Given the description of an element on the screen output the (x, y) to click on. 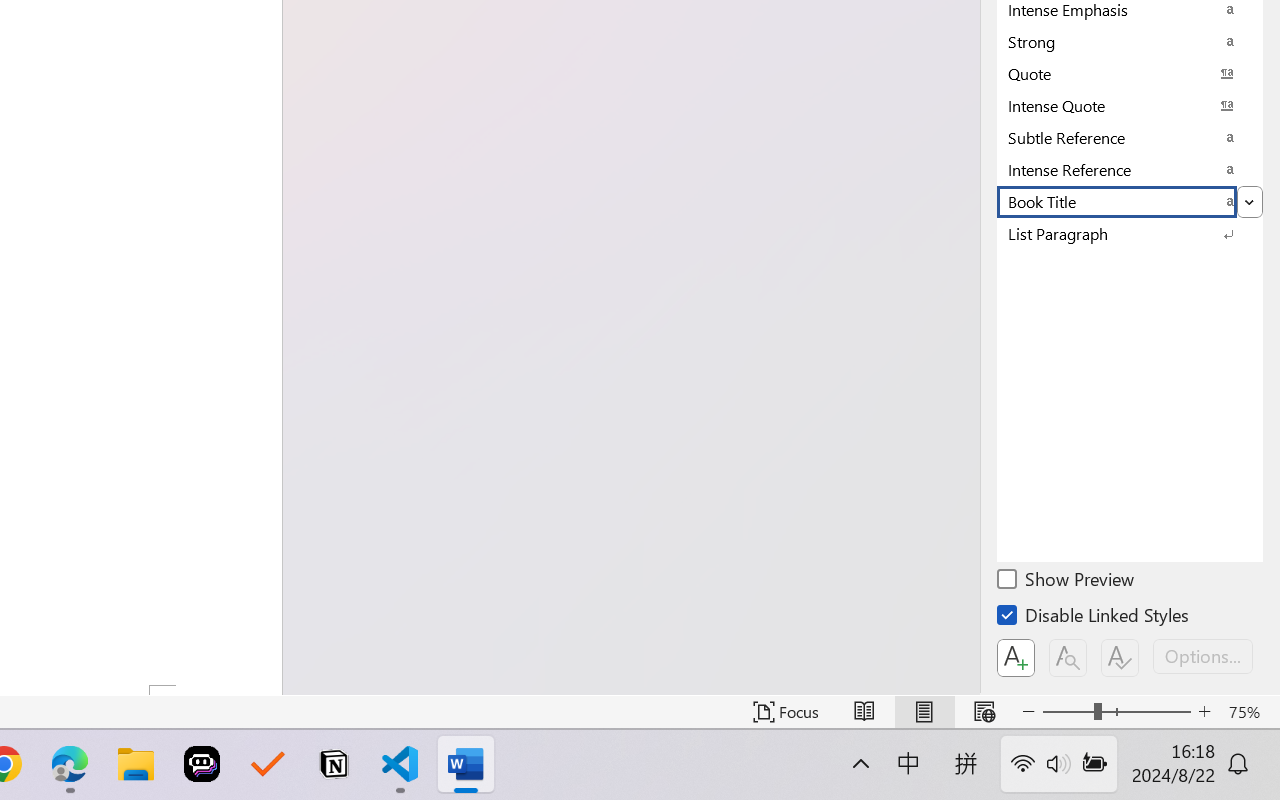
Intense Reference (1130, 169)
Strong (1130, 41)
Zoom 75% (1249, 712)
Disable Linked Styles (1094, 618)
Subtle Reference (1130, 137)
Show Preview (1067, 582)
Book Title (1130, 201)
Options... (1203, 656)
Intense Quote (1130, 105)
List Paragraph (1130, 233)
